Given the description of an element on the screen output the (x, y) to click on. 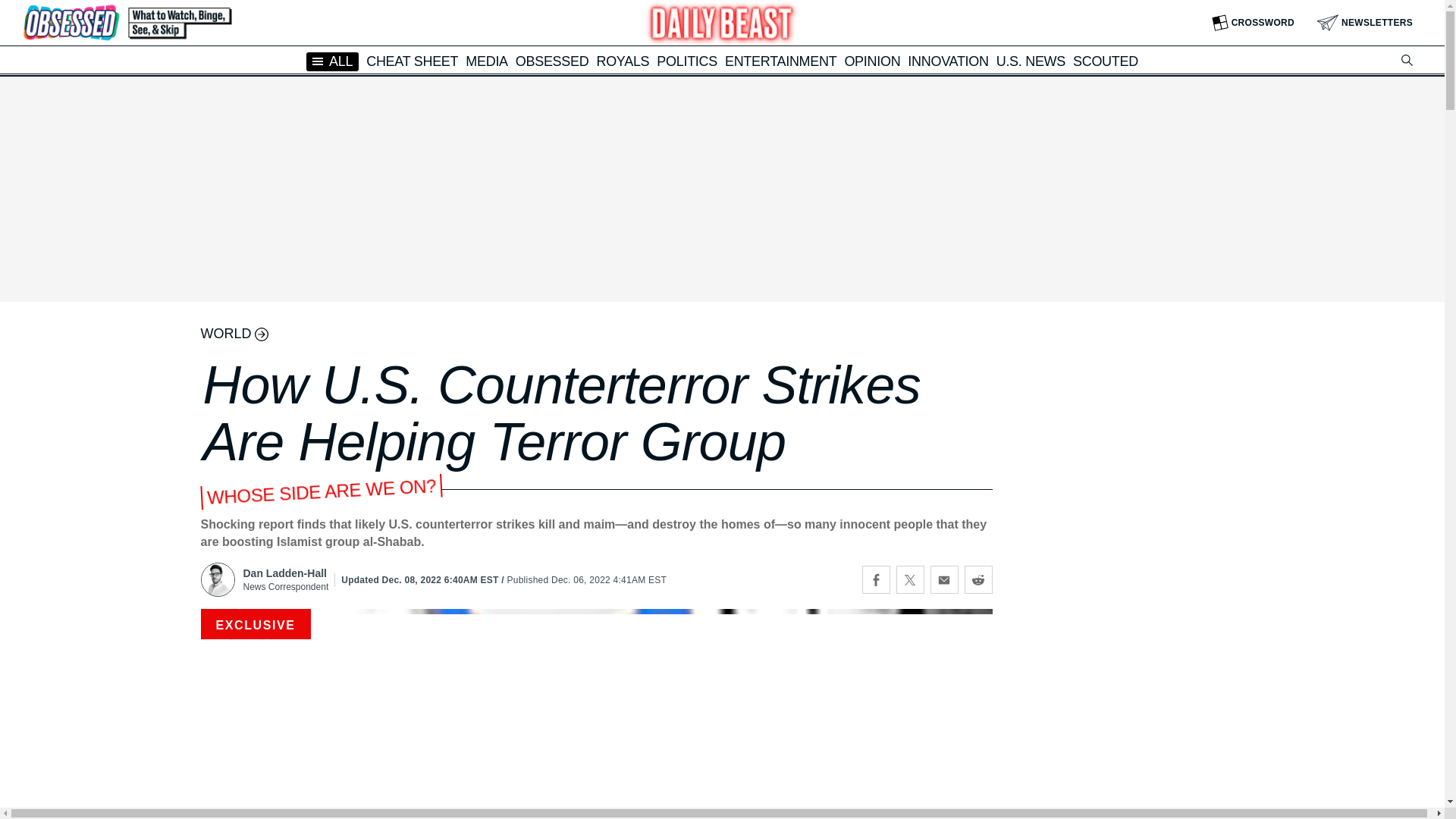
ROYALS (622, 60)
INNOVATION (947, 60)
ALL (331, 60)
MEDIA (486, 60)
NEWSLETTERS (1364, 22)
CHEAT SHEET (412, 60)
POLITICS (686, 60)
SCOUTED (1105, 60)
ENTERTAINMENT (780, 60)
OPINION (871, 60)
U.S. NEWS (1030, 60)
CROSSWORD (1252, 22)
OBSESSED (552, 60)
